Given the description of an element on the screen output the (x, y) to click on. 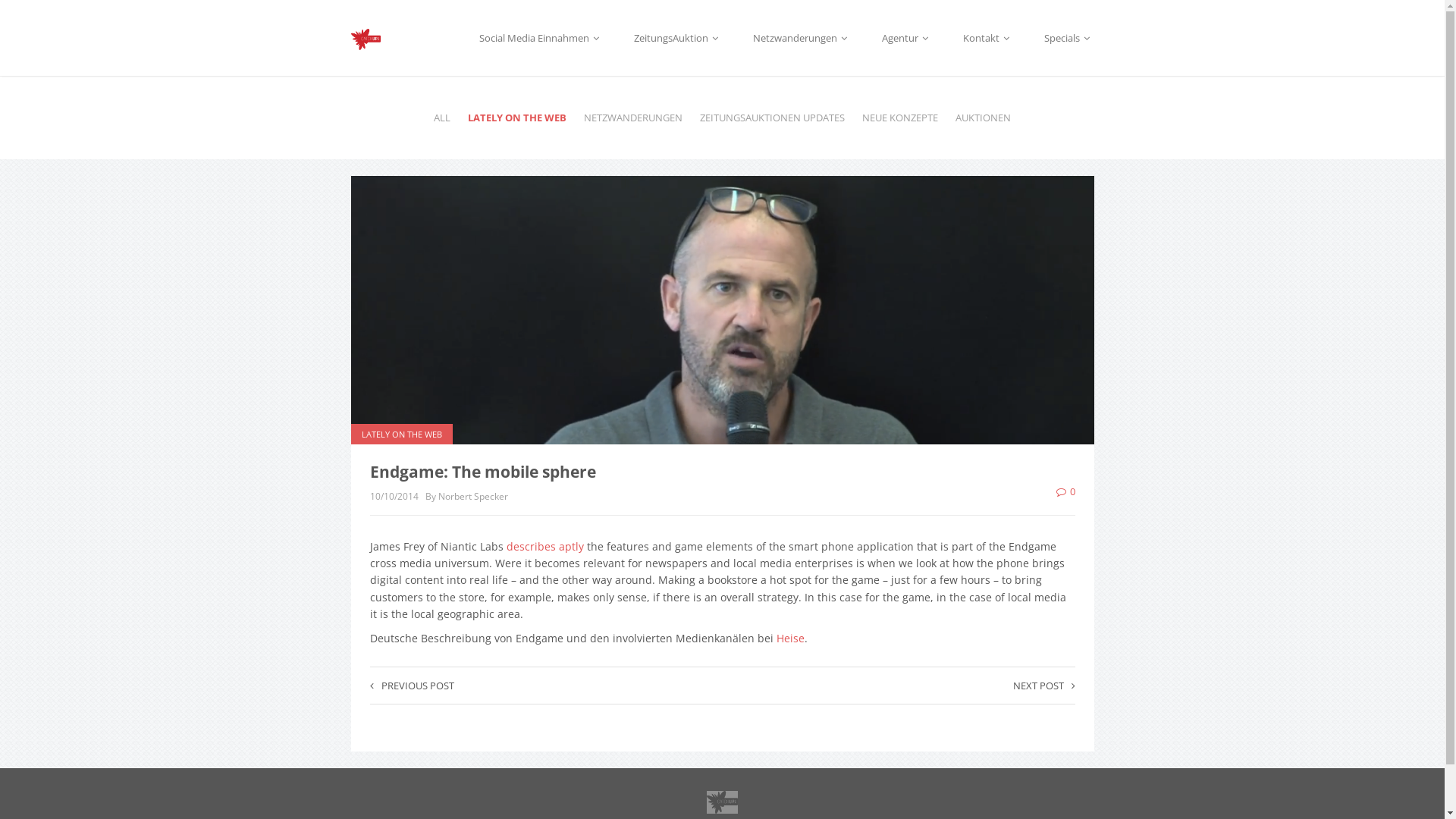
0 Element type: text (1064, 491)
Agentur Element type: text (907, 38)
AUKTIONEN Element type: text (982, 117)
LATELY ON THE WEB Element type: text (517, 117)
Social Media Einnahmen Element type: text (540, 38)
LATELY ON THE WEB Element type: text (400, 433)
describes aptly Element type: text (544, 546)
Heise Element type: text (790, 637)
Specials Element type: text (1067, 38)
Kontakt Element type: text (987, 38)
NEXT POST Element type: text (1044, 685)
ALL Element type: text (442, 117)
NEUE KONZEPTE Element type: text (899, 117)
ZeitungsAuktion Element type: text (677, 38)
NETZWANDERUNGEN Element type: text (633, 117)
ZEITUNGSAUKTIONEN UPDATES Element type: text (772, 117)
PREVIOUS POST Element type: text (412, 685)
Netzwanderungen Element type: text (802, 38)
